Given the description of an element on the screen output the (x, y) to click on. 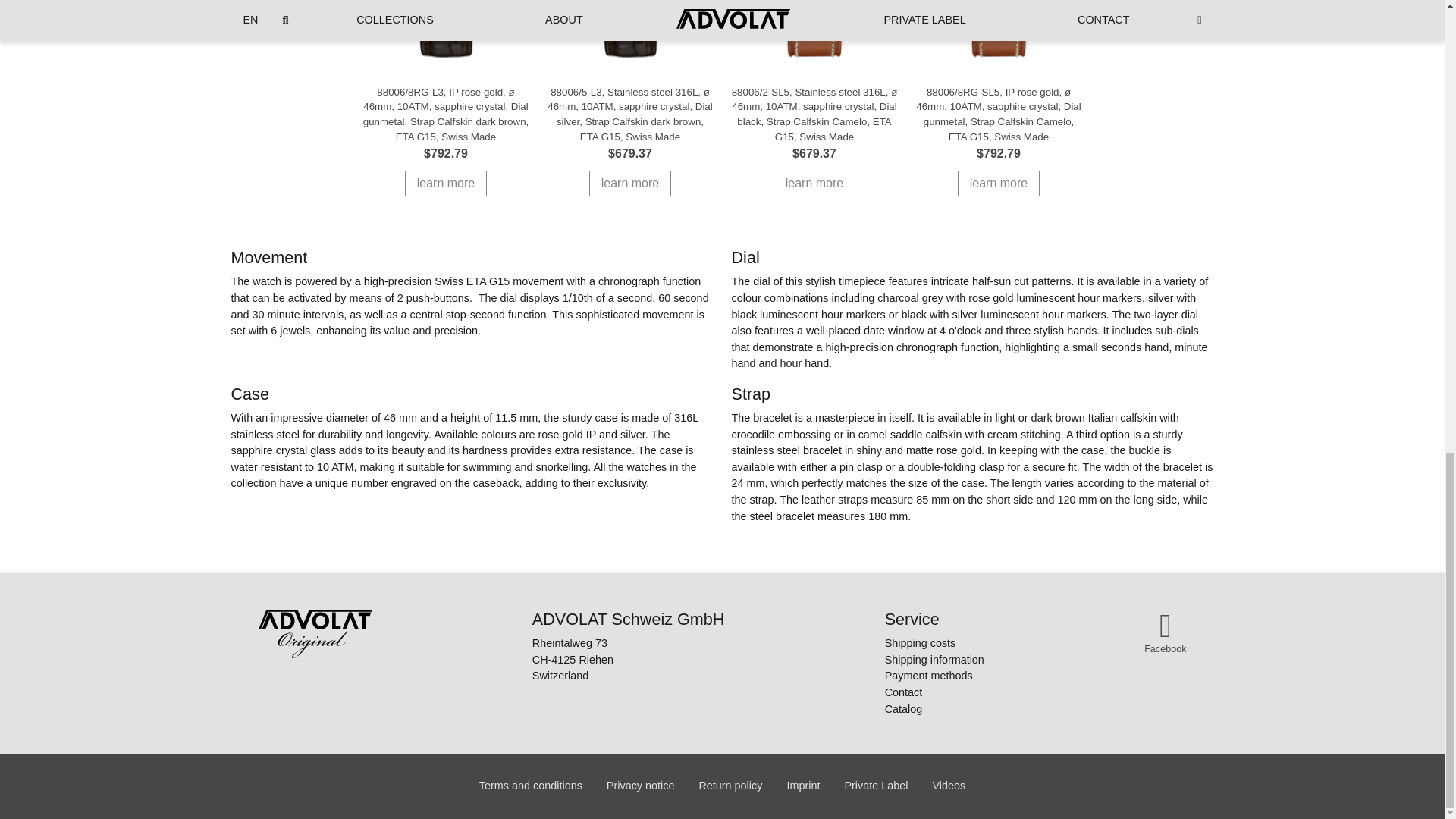
learn more (814, 183)
Payment methods (934, 676)
Shipping costs (934, 643)
learn more (630, 183)
learn more (445, 183)
Shipping information (934, 660)
learn more (998, 183)
